Given the description of an element on the screen output the (x, y) to click on. 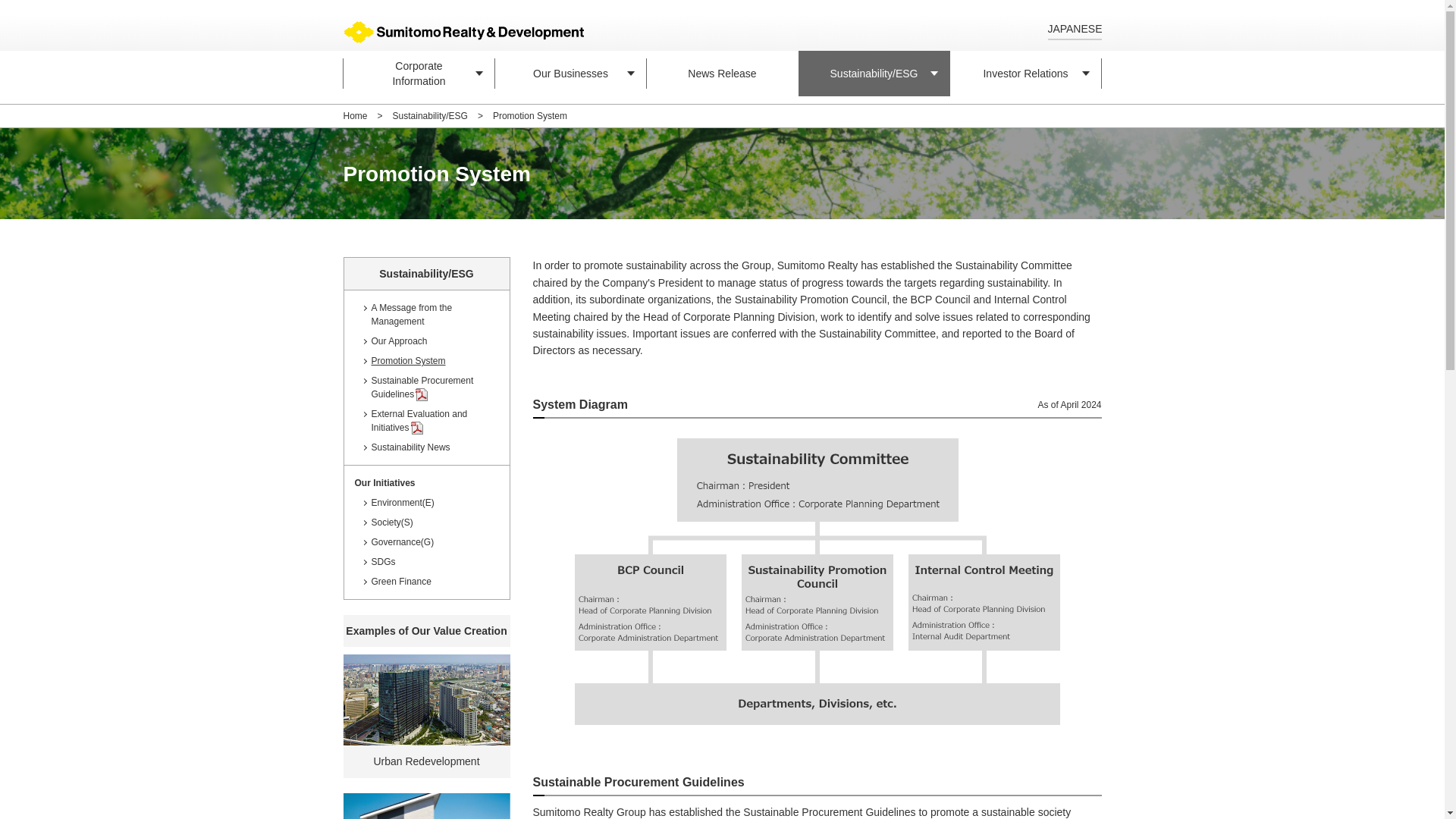
JAPANESE (1074, 29)
Our Businesses (418, 73)
Sumitomo (570, 73)
